Given the description of an element on the screen output the (x, y) to click on. 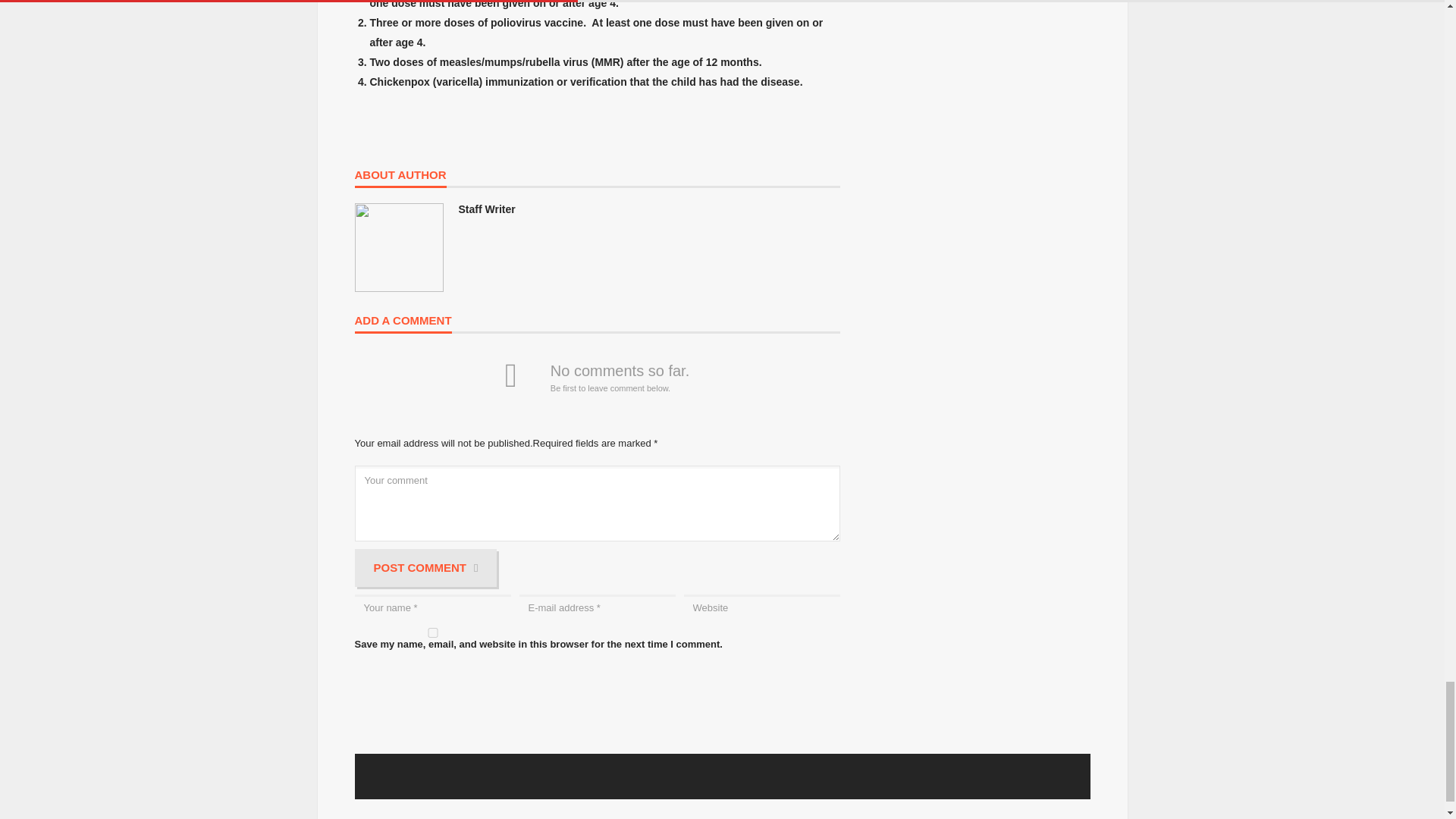
yes (433, 633)
ADD A COMMENT (403, 323)
ABOUT AUTHOR (400, 178)
POST COMMENT (426, 567)
